Given the description of an element on the screen output the (x, y) to click on. 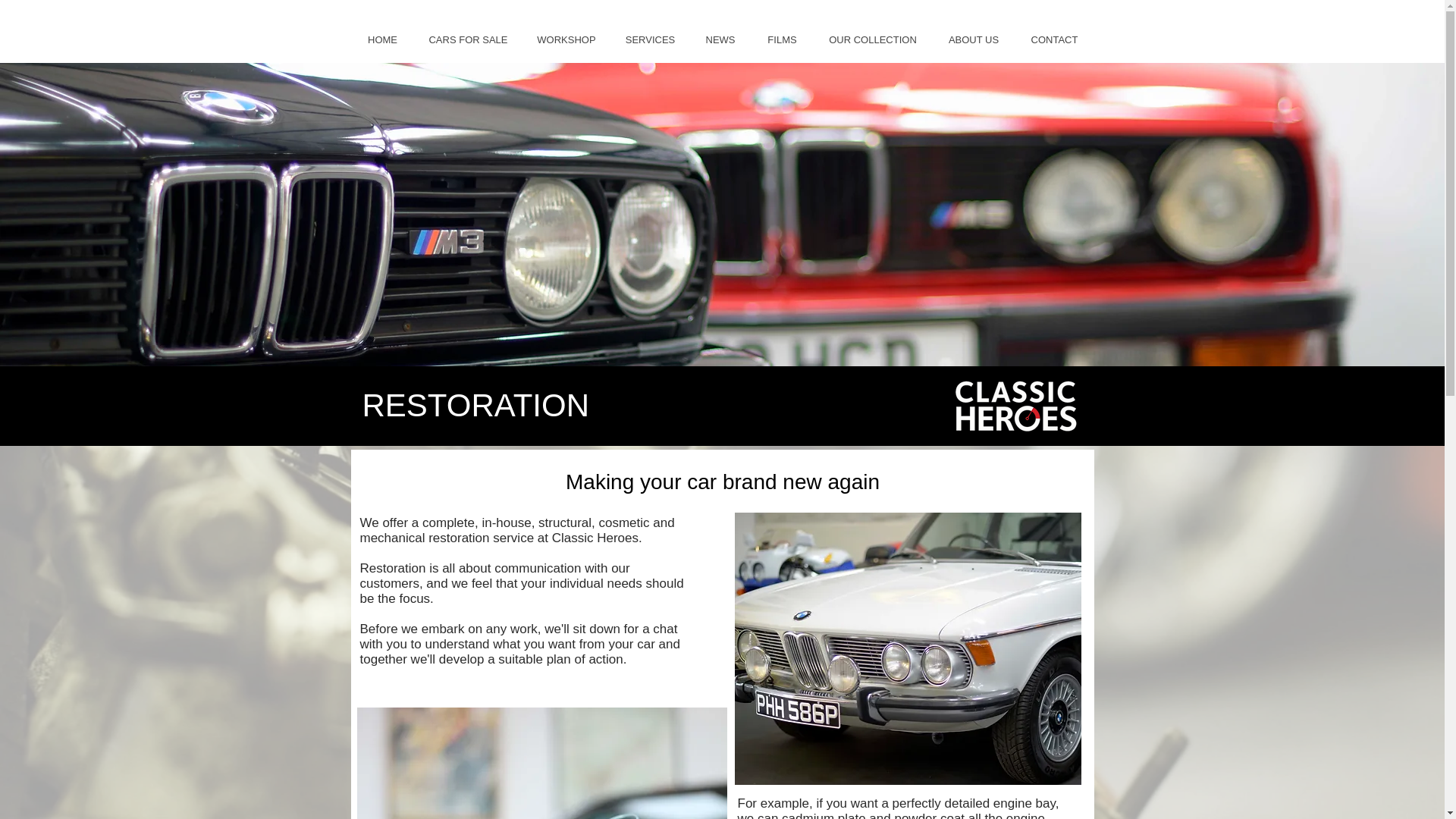
WORKSHOP (566, 40)
SERVICES (649, 40)
FILMS (781, 40)
HOME (381, 40)
ABOUT US (973, 40)
CARS FOR SALE (467, 40)
CONTACT (1054, 40)
NEWS (719, 40)
2500.jpg (906, 648)
OUR COLLECTION (872, 40)
